Given the description of an element on the screen output the (x, y) to click on. 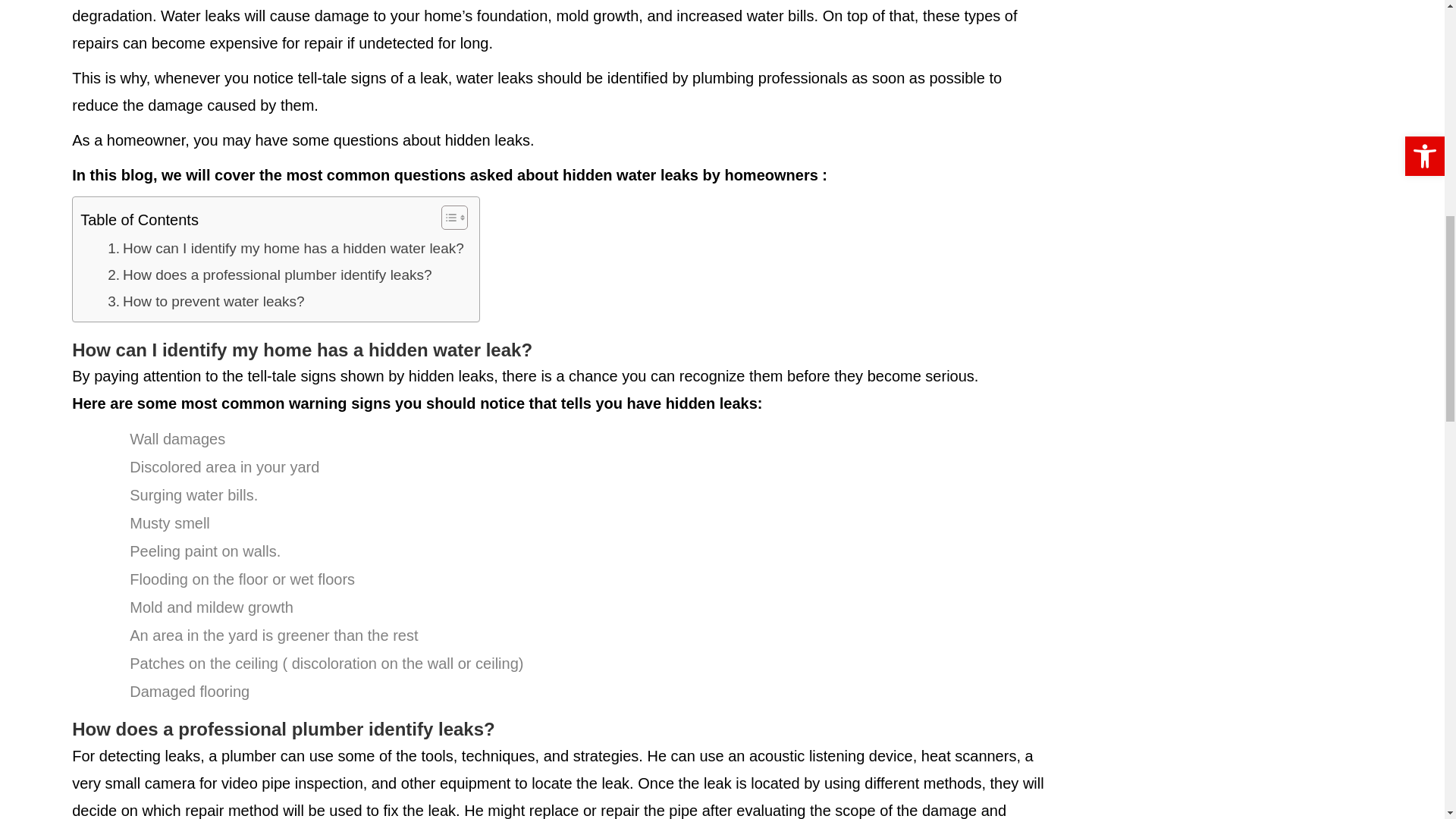
How does a professional plumber identify leaks? (268, 274)
How to prevent water leaks? (205, 301)
How can I identify my home has a hidden water leak? (285, 247)
